Given the description of an element on the screen output the (x, y) to click on. 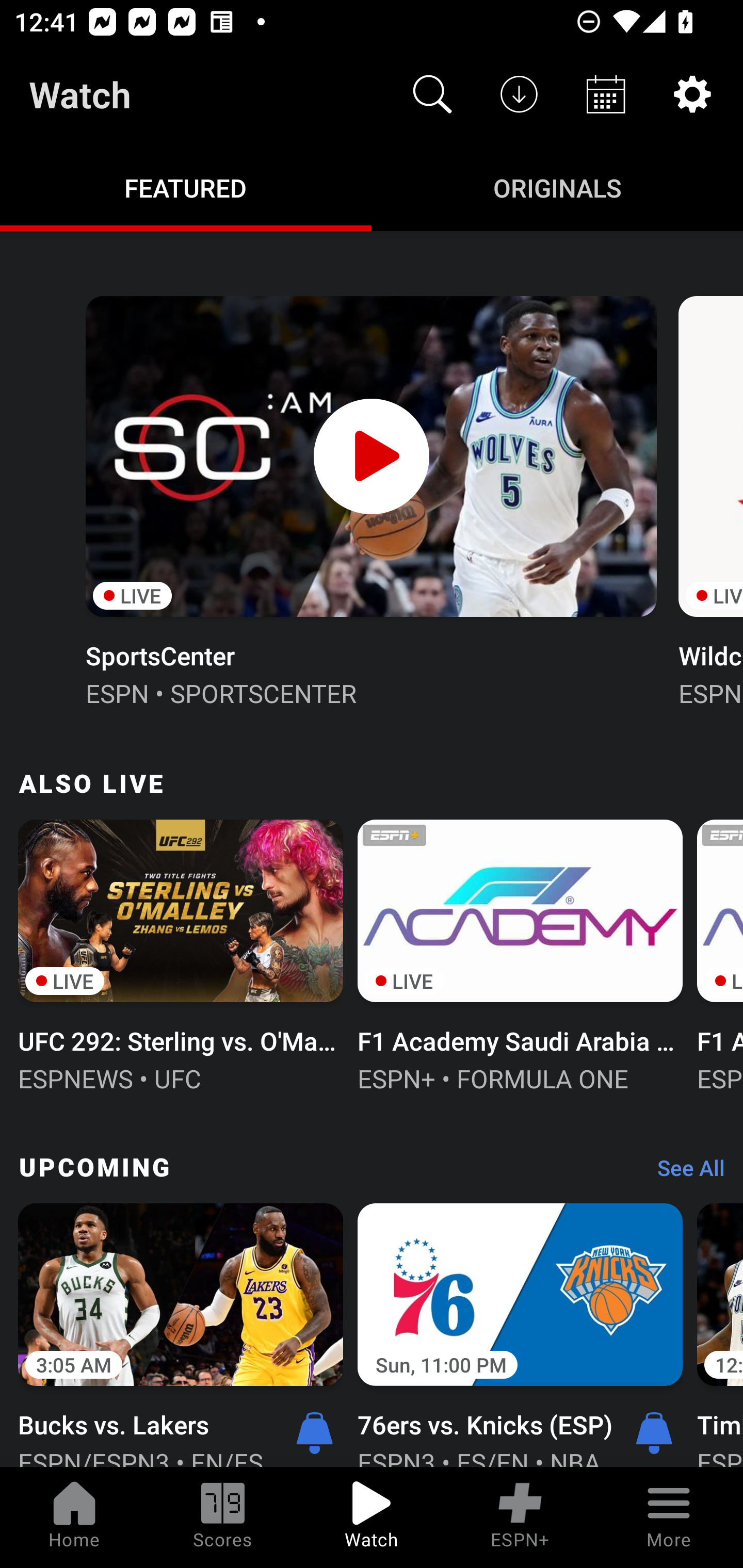
Search (432, 93)
Downloads (518, 93)
Schedule (605, 93)
Settings (692, 93)
Originals ORIGINALS (557, 187)
 LIVE SportsCenter ESPN • SPORTSCENTER (370, 499)
LIVE UFC 292: Sterling vs. O'Malley ESPNEWS • UFC (180, 954)
See All (683, 1172)
Home (74, 1517)
Scores (222, 1517)
ESPN+ (519, 1517)
More (668, 1517)
